Given the description of an element on the screen output the (x, y) to click on. 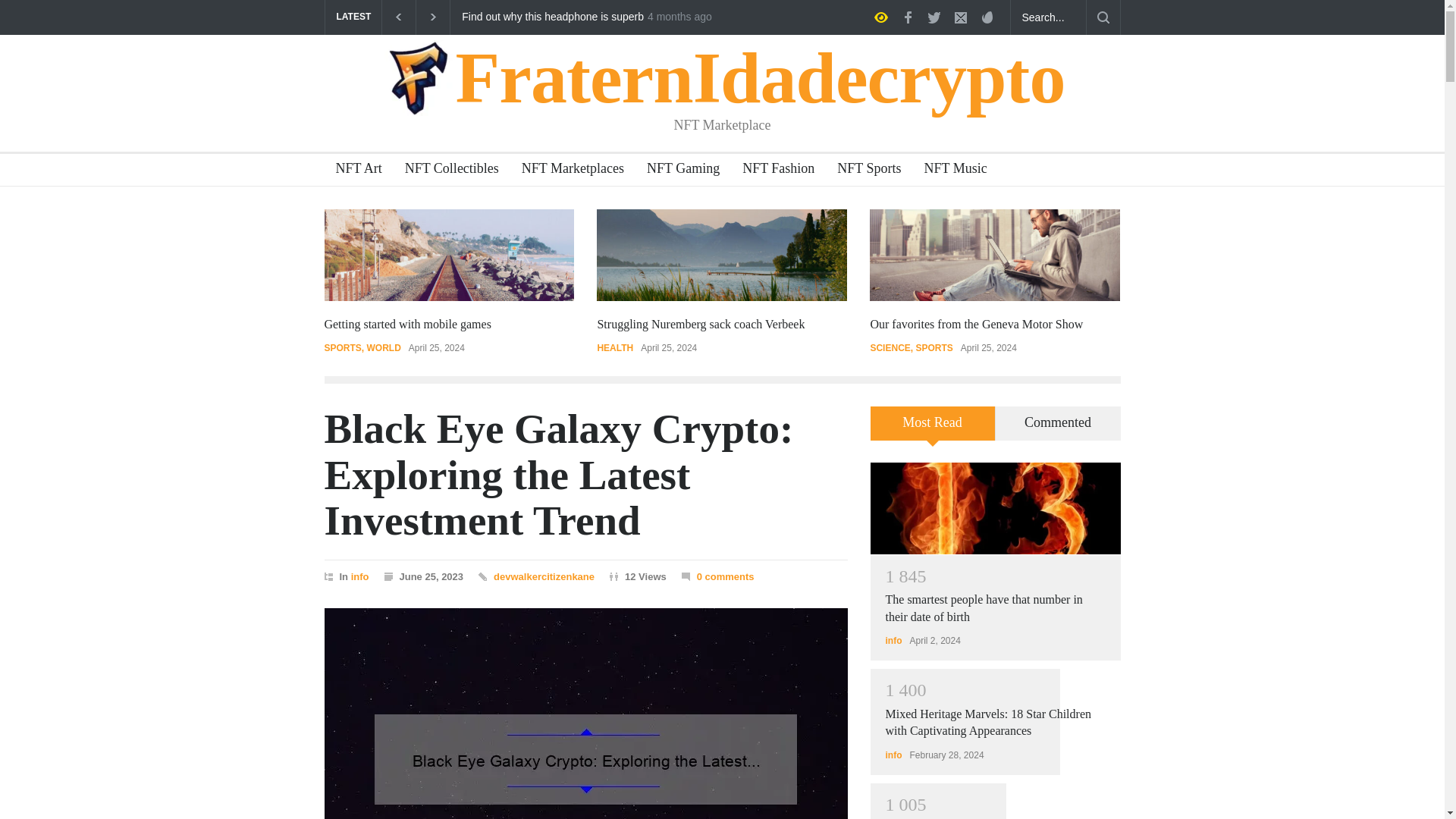
NFT Fashion (771, 169)
Our favorites from the Geneva Motor Show (976, 323)
HEALTH (614, 347)
NFT Music (949, 169)
Getting started with mobile games (406, 323)
View all posts filed under SPORTS (342, 347)
Getting started with mobile games (406, 323)
SPORTS (933, 347)
View all posts filed under WORLD (383, 347)
